Given the description of an element on the screen output the (x, y) to click on. 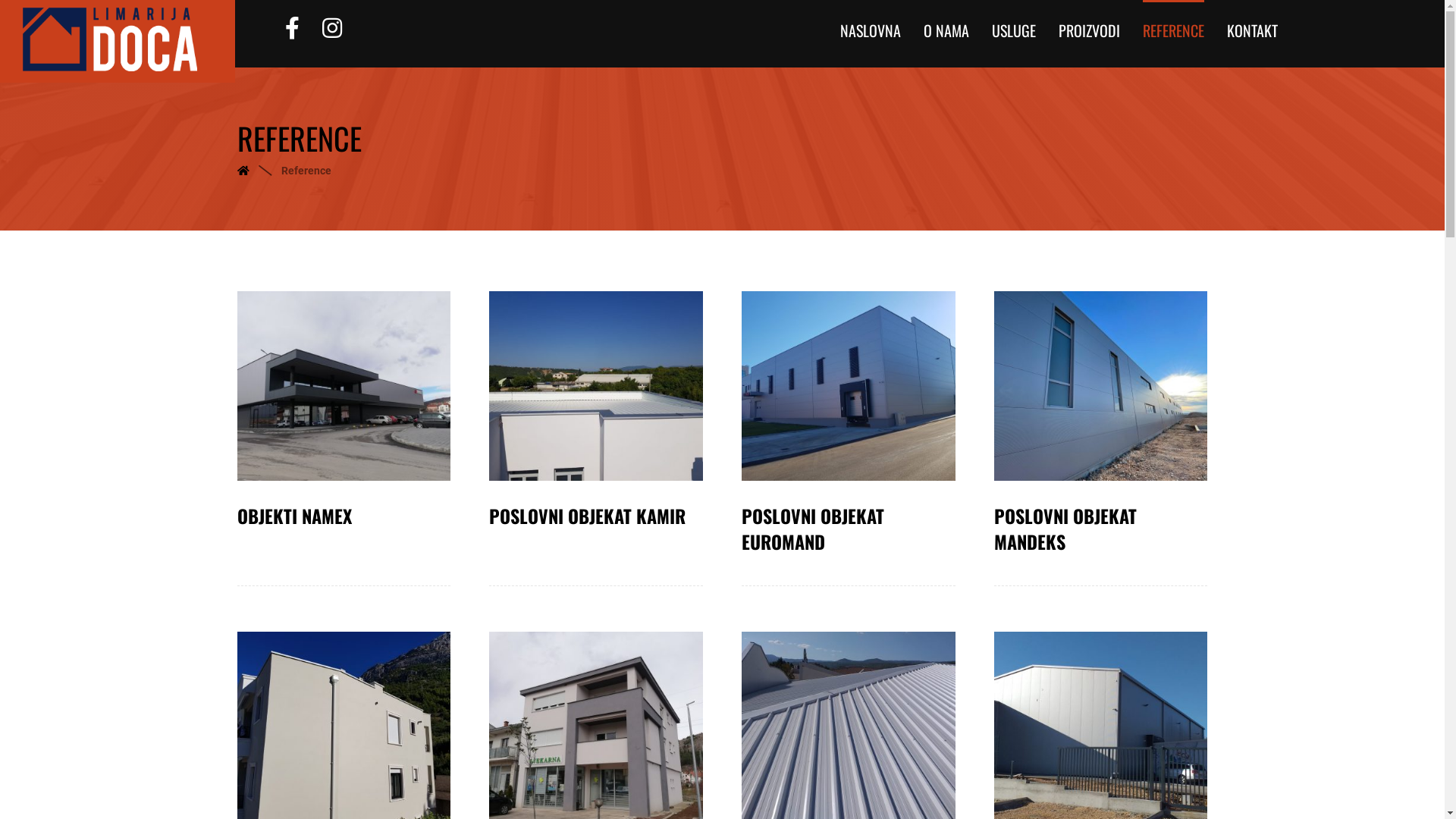
Reference 1 Element type: hover (343, 385)
REFERENCE Element type: text (1173, 25)
POSLOVNI OBJEKAT EUROMAND Element type: text (848, 528)
POSLOVNI OBJEKAT KAMIR Element type: text (595, 516)
KONTAKT Element type: text (1251, 25)
Reference 2 Element type: hover (595, 385)
Reference 3 Element type: hover (848, 385)
NASLOVNA Element type: text (870, 25)
PROIZVODI Element type: text (1089, 25)
OBJEKTI NAMEX Element type: text (343, 516)
POSLOVNI OBJEKAT MANDEKS Element type: text (1101, 528)
Reference Element type: text (305, 170)
O NAMA Element type: text (946, 25)
Reference 4 Element type: hover (1101, 385)
USLUGE Element type: text (1013, 25)
